Given the description of an element on the screen output the (x, y) to click on. 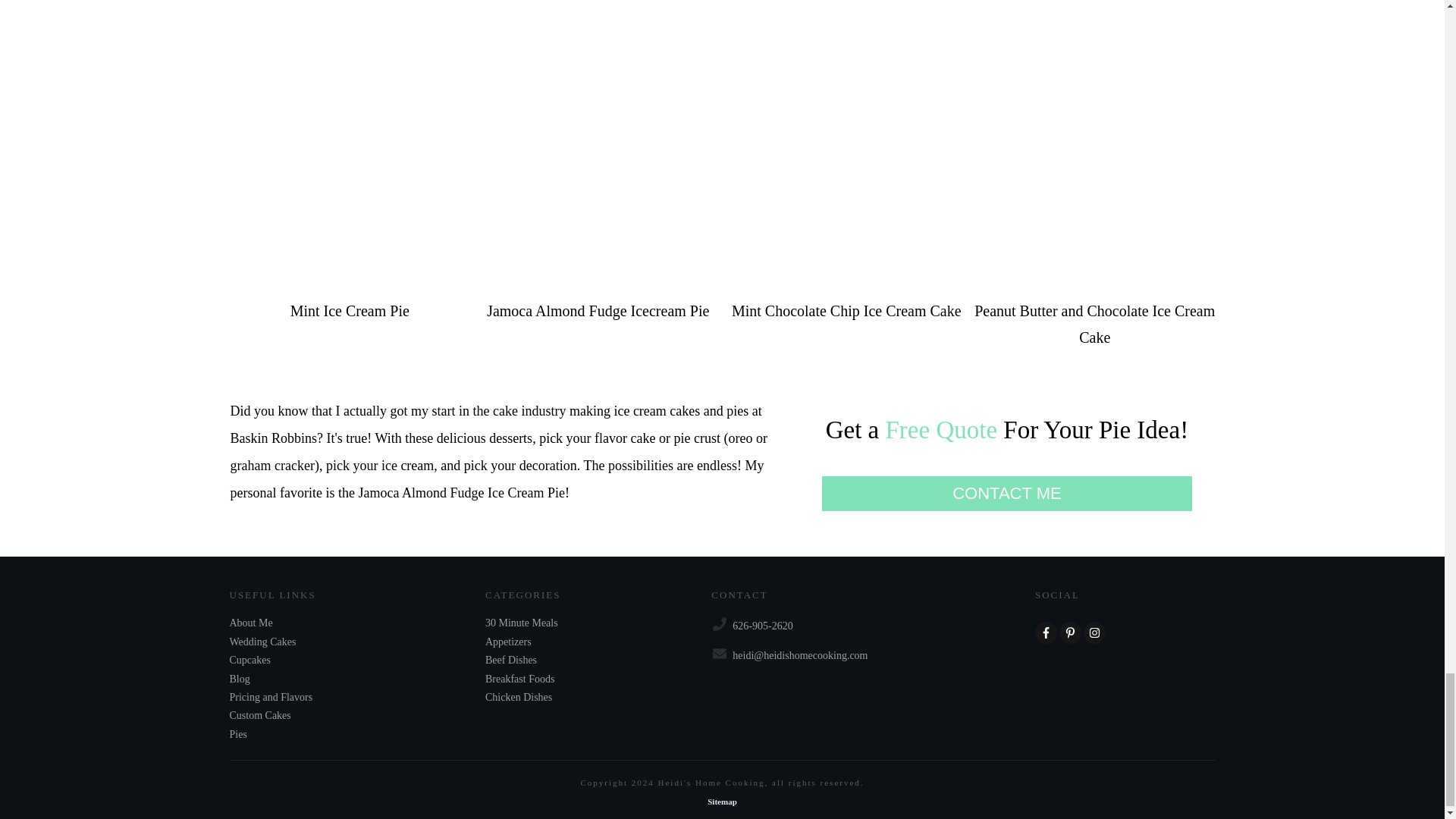
CONTACT ME (1007, 493)
CONTACT ME (1007, 493)
Beef Dishes (510, 660)
Breakfast Foods (519, 678)
Blog (238, 678)
Custom Cakes (258, 715)
Chicken Dishes (517, 697)
Cupcakes (248, 660)
Appetizers (507, 641)
30 Minute Meals (520, 623)
